Given the description of an element on the screen output the (x, y) to click on. 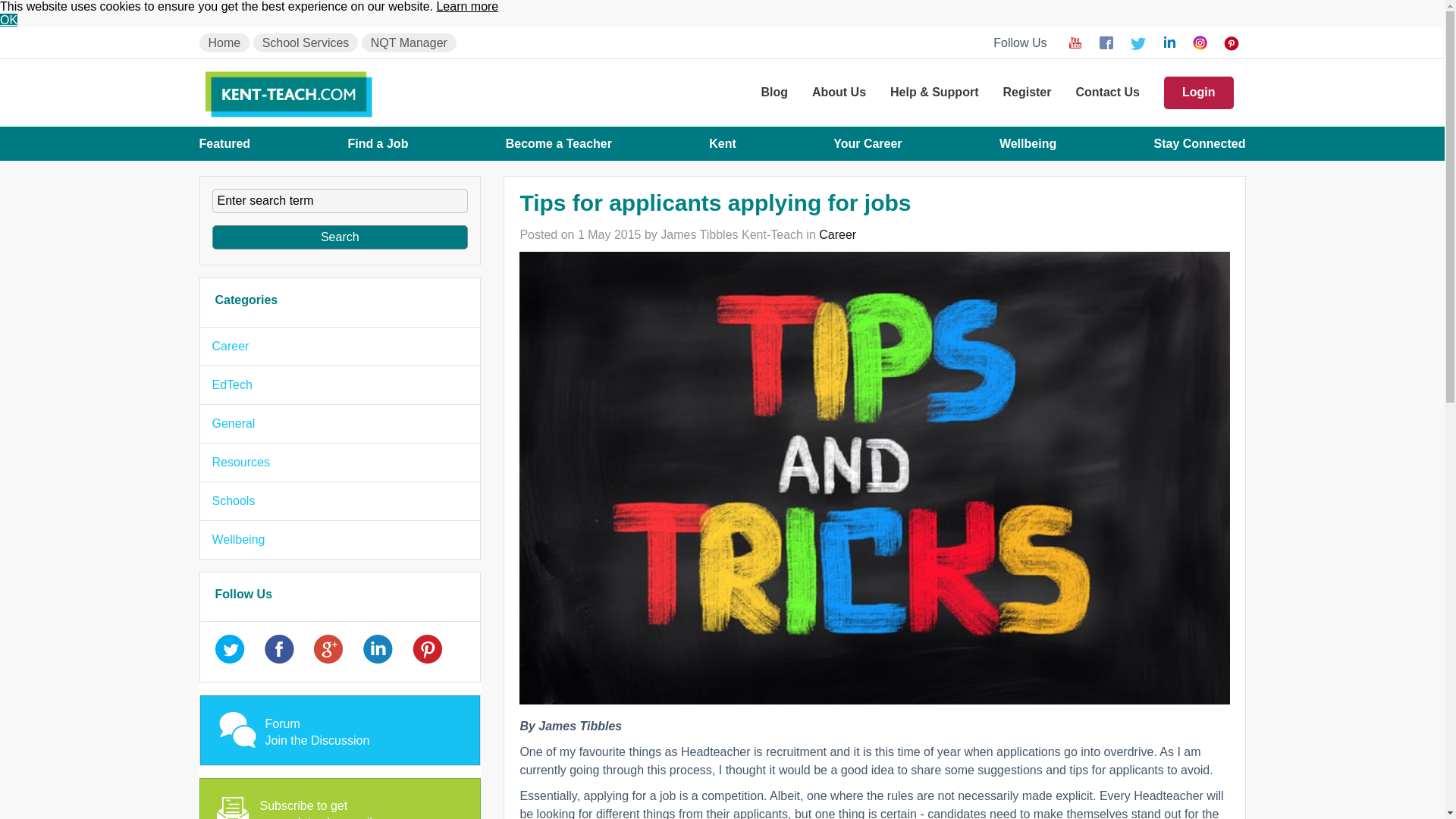
Career (230, 345)
Find a Job (377, 143)
Category: Wellbeing (238, 539)
Category: Schools (234, 500)
Home (223, 42)
Category: General (234, 422)
Search (340, 237)
Resources (240, 461)
NQT Manager (409, 42)
About Us (839, 92)
Category: Career (230, 345)
EdTech (231, 384)
Login (1198, 92)
Wellbeing (1027, 143)
Career (837, 234)
